Given the description of an element on the screen output the (x, y) to click on. 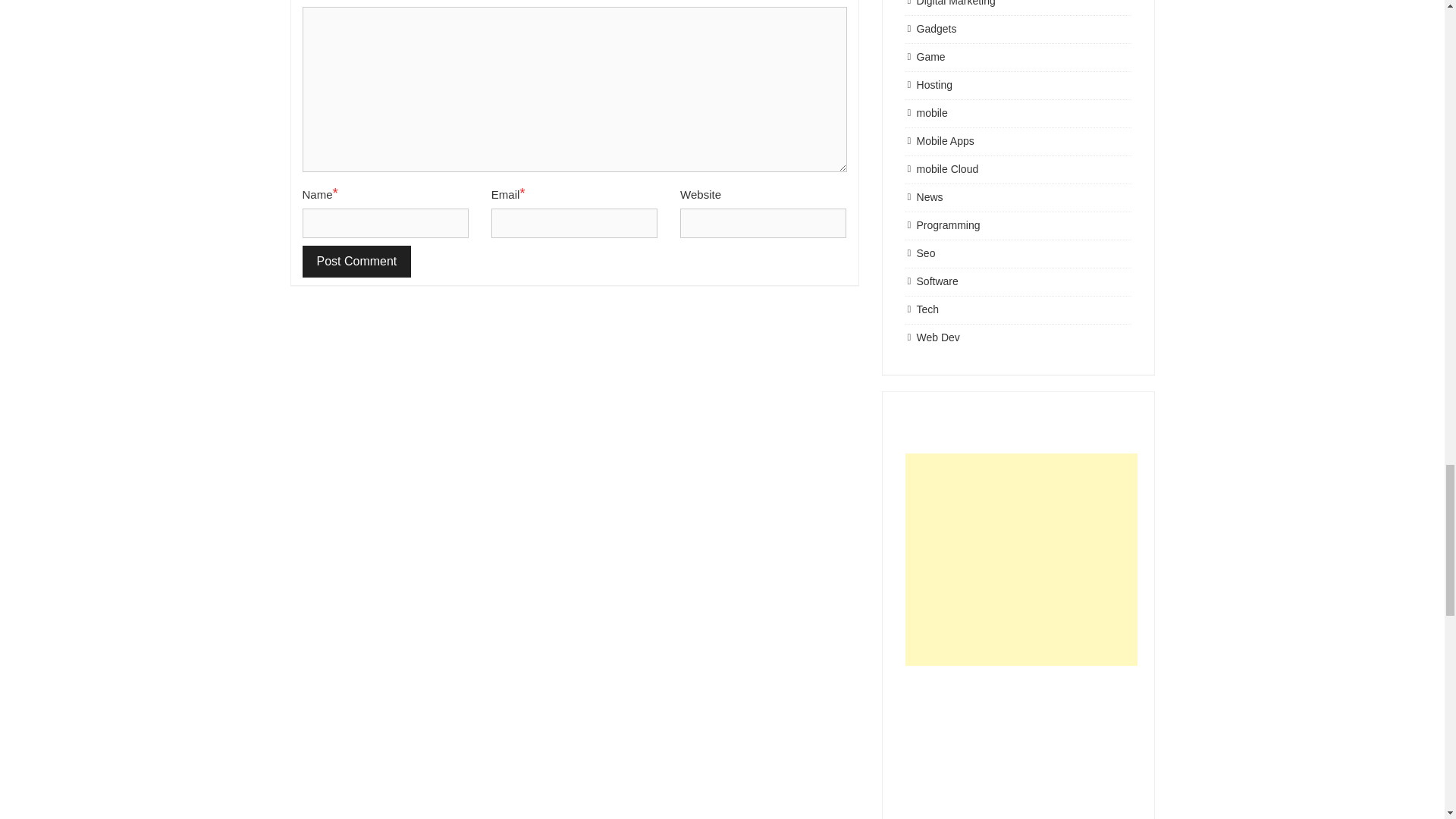
Post Comment (355, 261)
Post Comment (355, 261)
Advertisement (1021, 748)
